Given the description of an element on the screen output the (x, y) to click on. 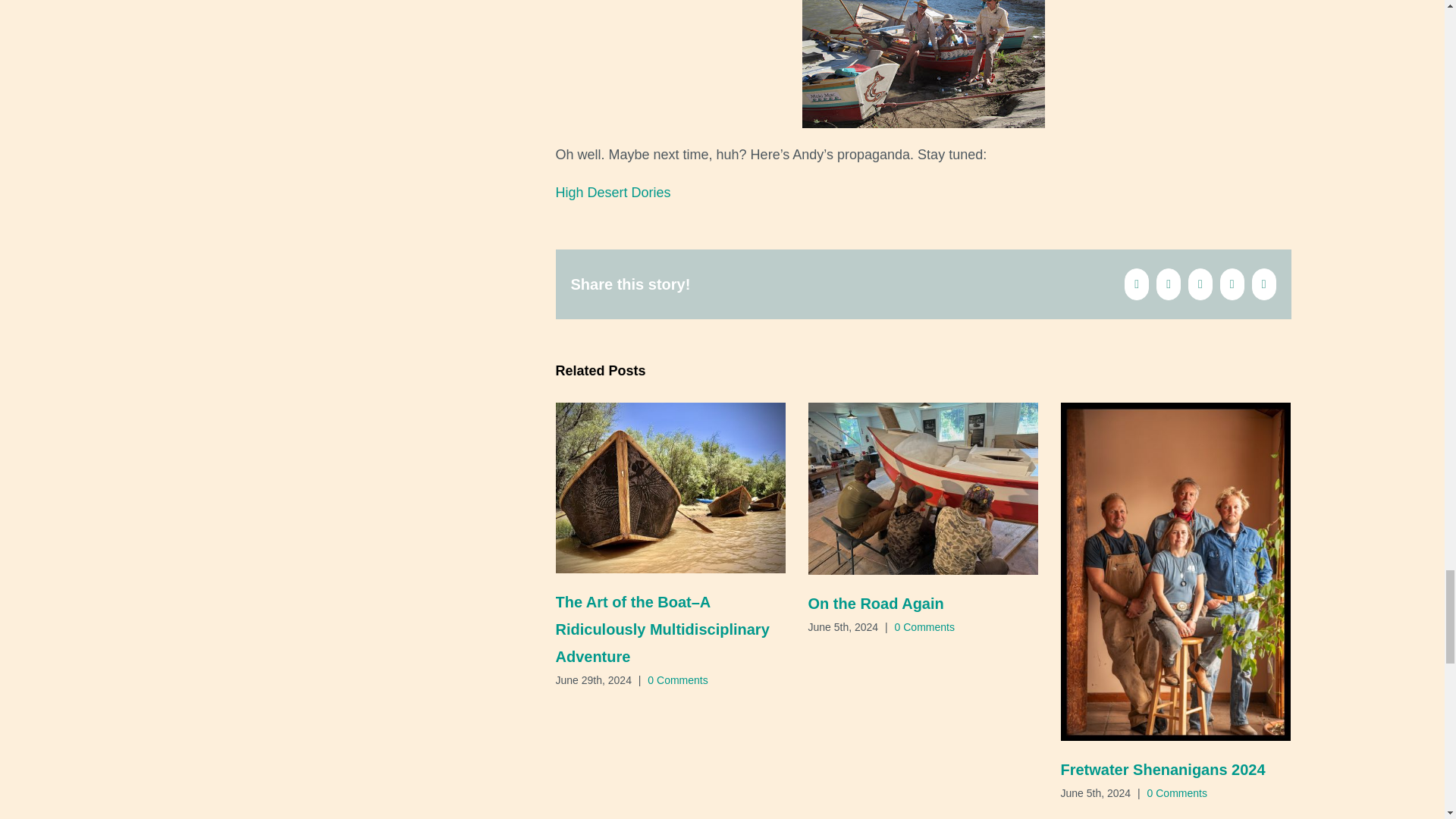
On the Road Again (875, 603)
Fretwater Shenanigans 2024 (1162, 769)
